Given the description of an element on the screen output the (x, y) to click on. 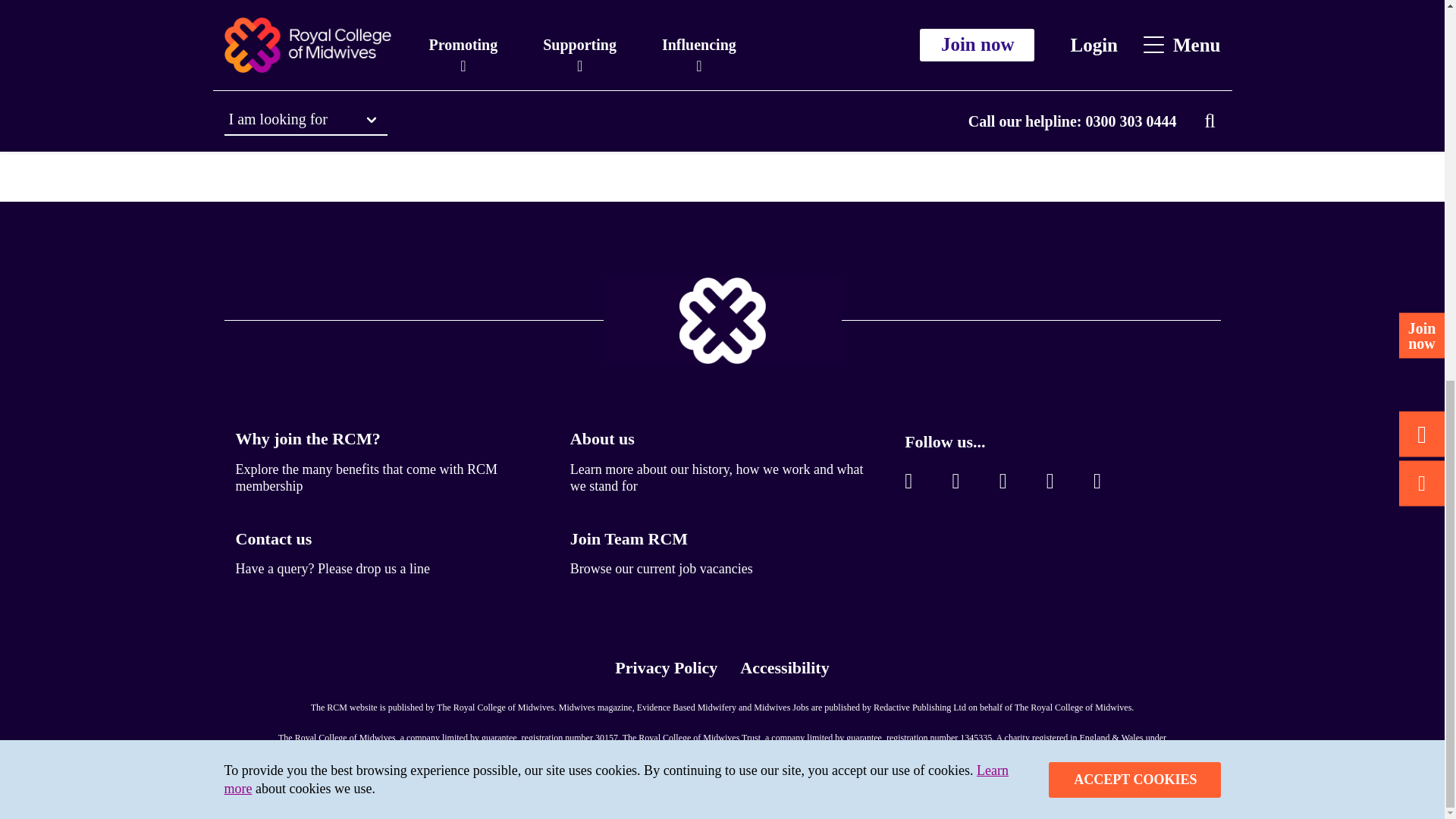
Contact us (272, 538)
About us (602, 438)
Why join the RCM? (307, 438)
Join Team RCM (628, 538)
Privacy Policy (616, 70)
